Given the description of an element on the screen output the (x, y) to click on. 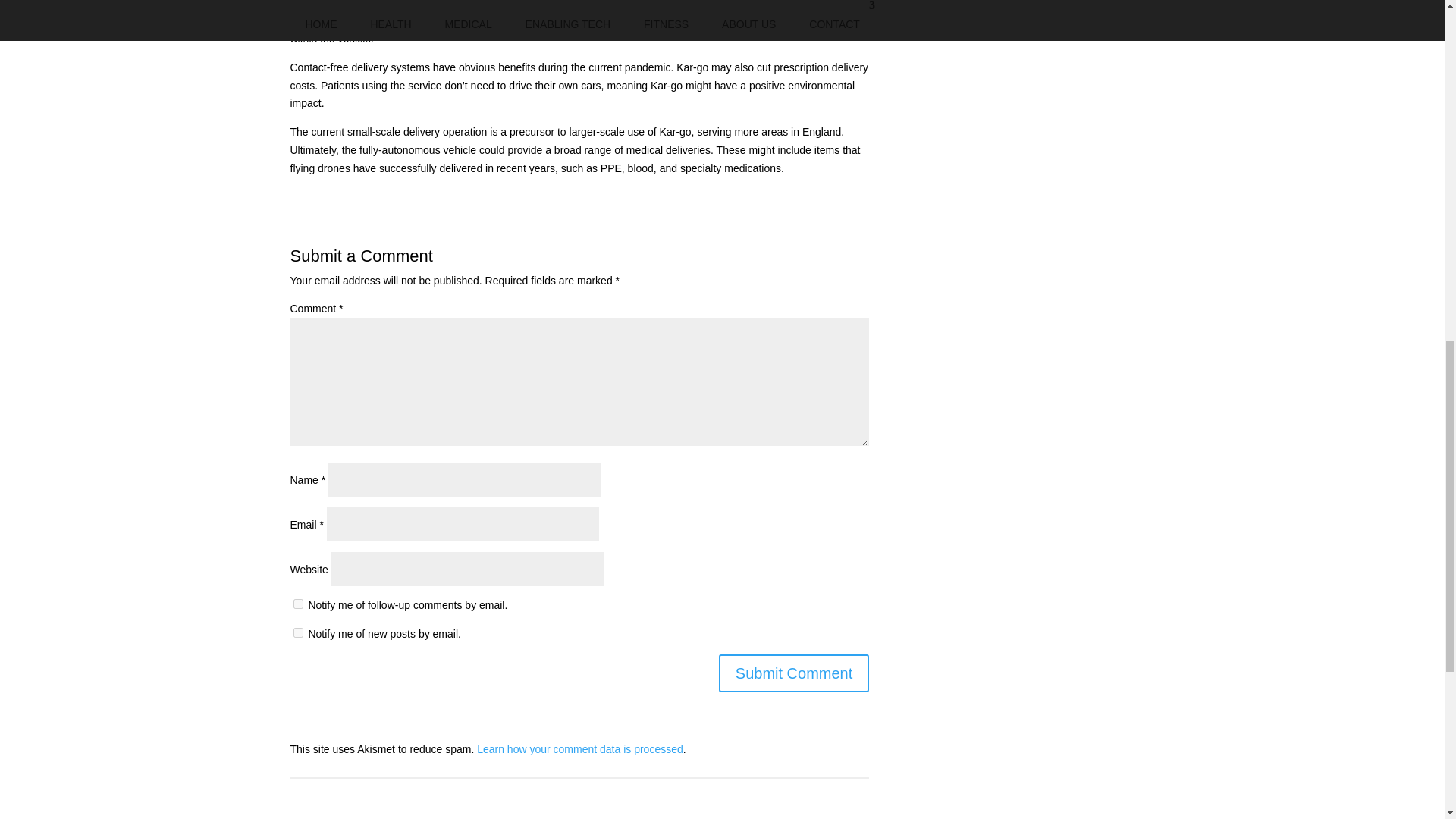
subscribe (297, 603)
subscribe (297, 633)
Submit Comment (794, 673)
Learn how your comment data is processed (579, 748)
Submit Comment (794, 673)
